Given the description of an element on the screen output the (x, y) to click on. 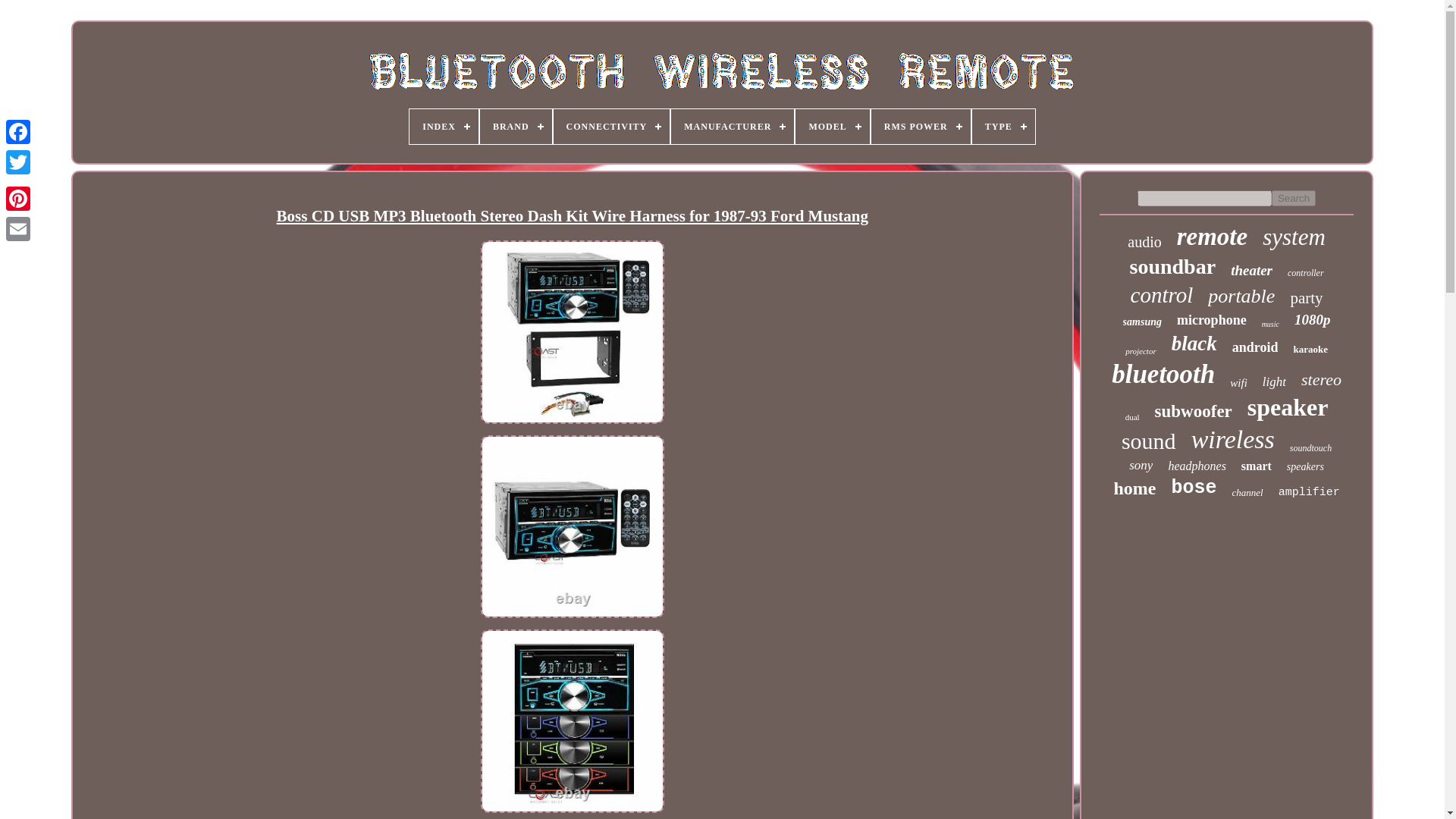
Search (1293, 198)
CONNECTIVITY (611, 126)
BRAND (515, 126)
INDEX (444, 126)
